Given the description of an element on the screen output the (x, y) to click on. 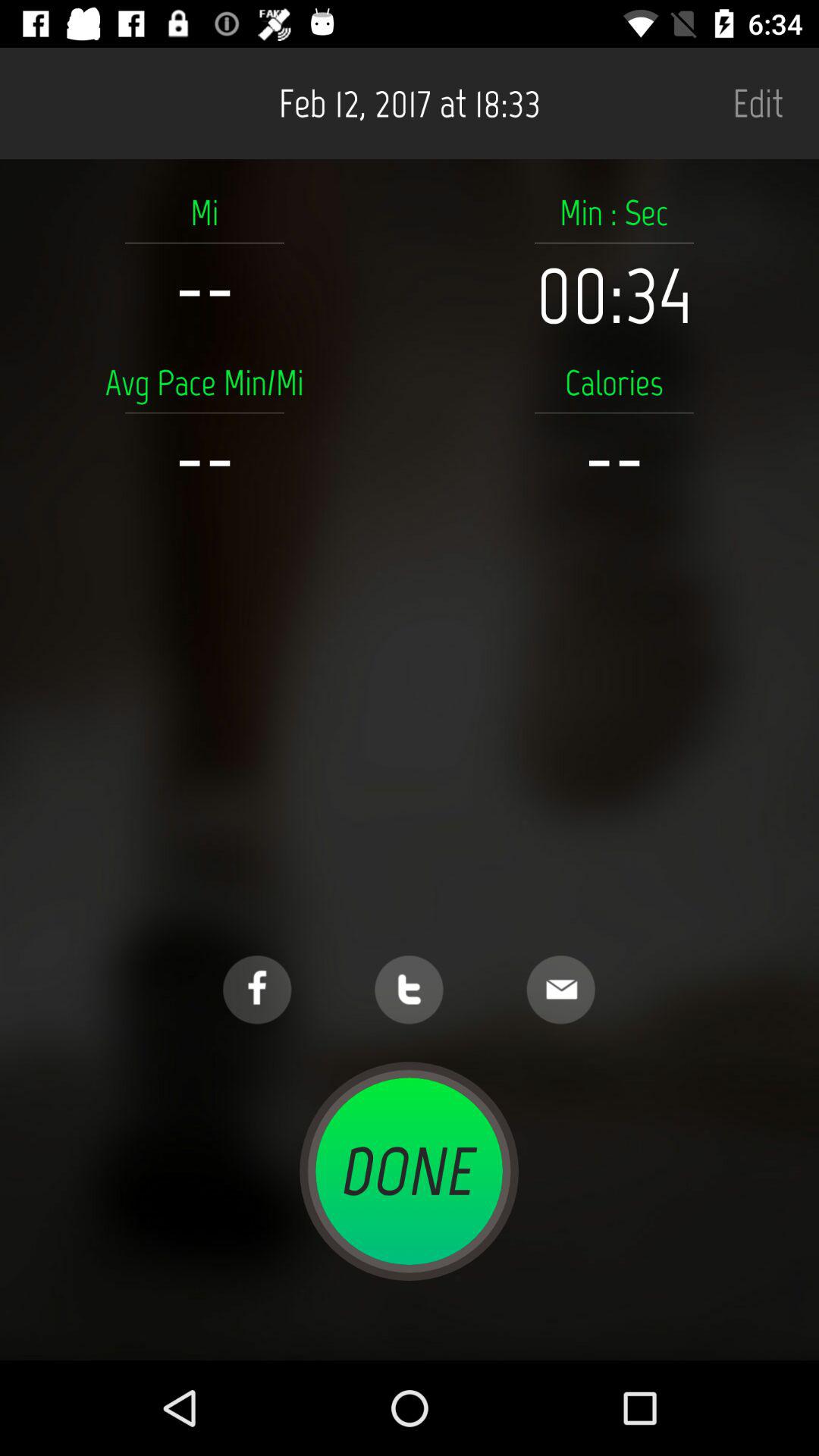
facebook link (257, 989)
